Given the description of an element on the screen output the (x, y) to click on. 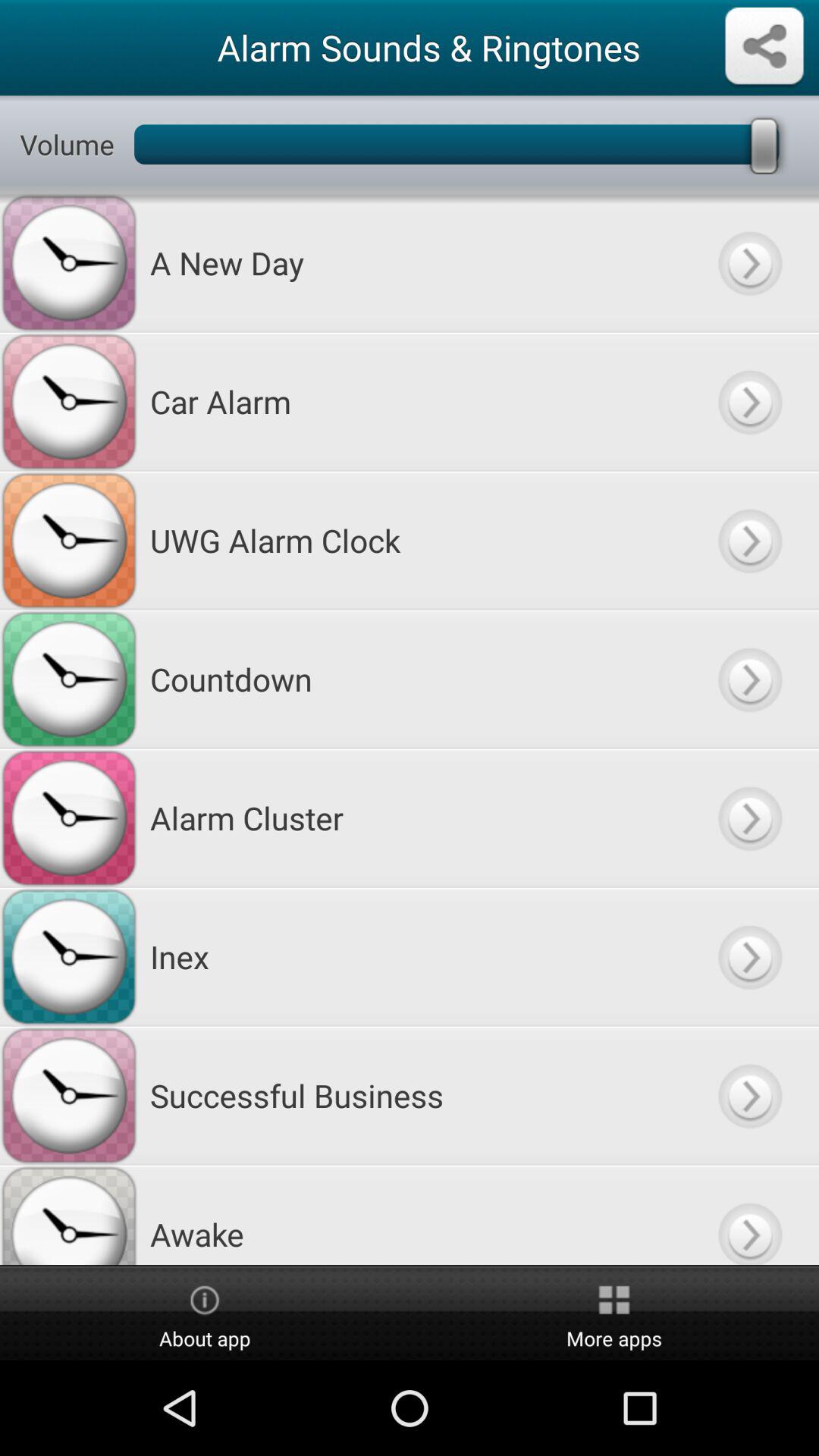
going next to the next page (749, 1214)
